Given the description of an element on the screen output the (x, y) to click on. 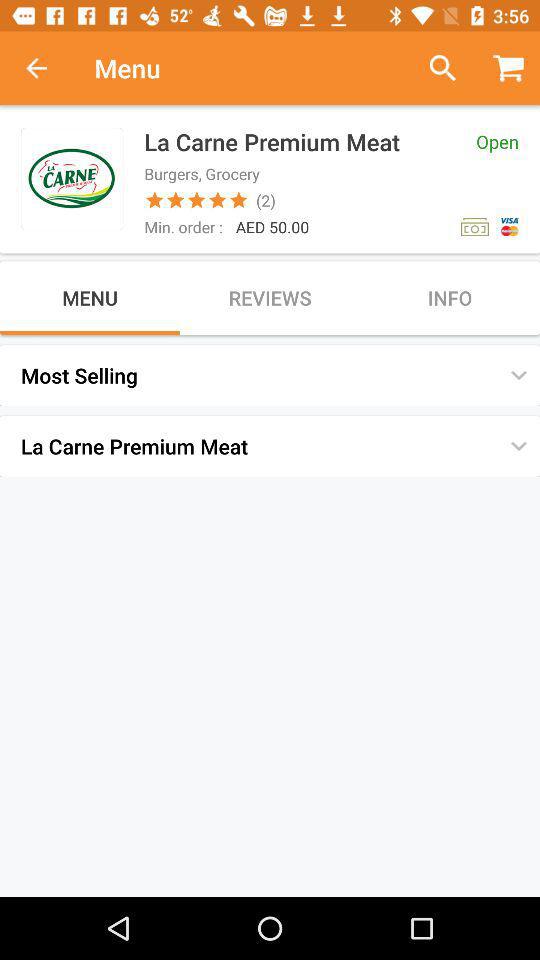
search option (434, 68)
